Given the description of an element on the screen output the (x, y) to click on. 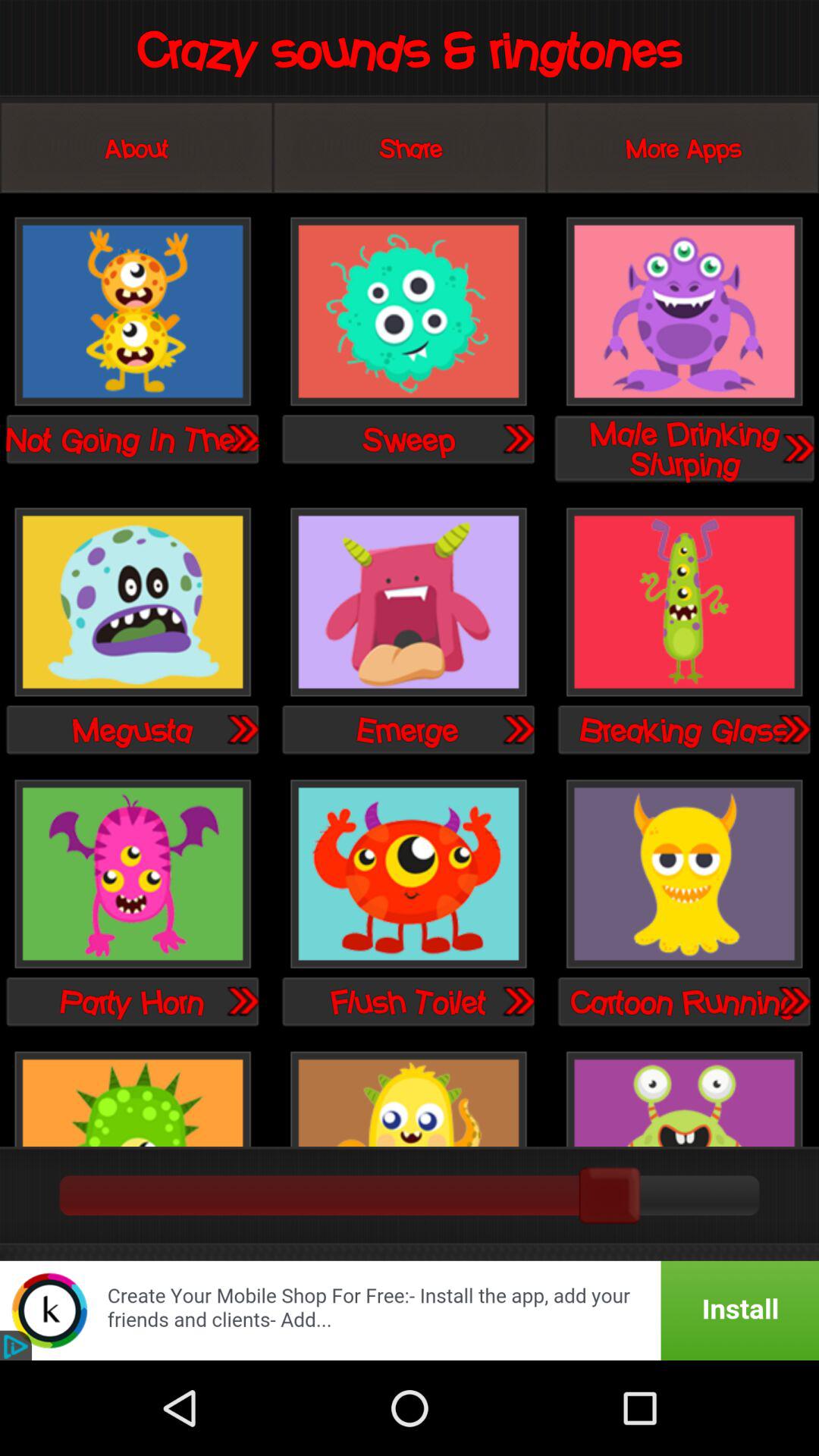
select sound (518, 1000)
